Given the description of an element on the screen output the (x, y) to click on. 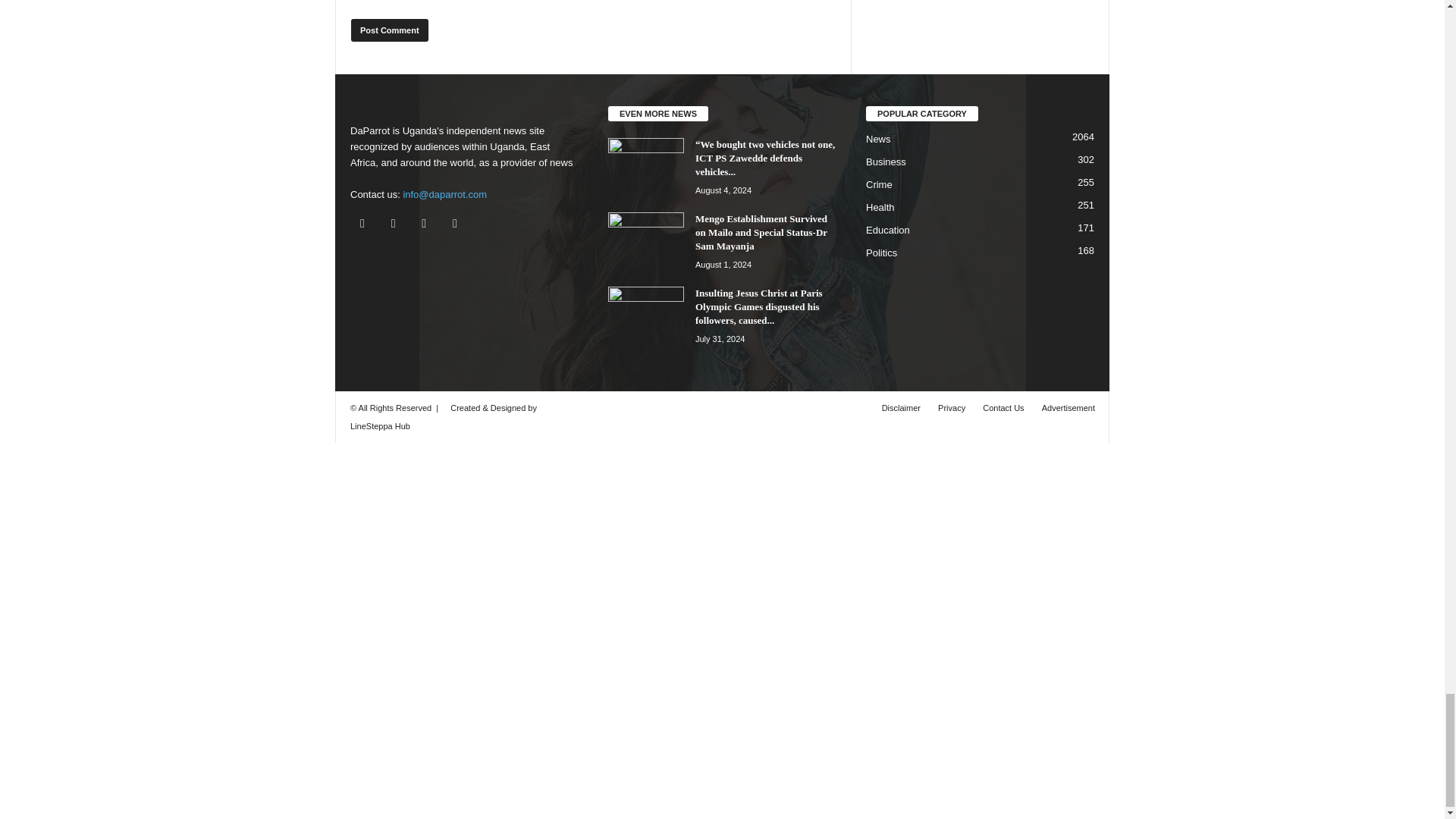
Post Comment (389, 29)
